Given the description of an element on the screen output the (x, y) to click on. 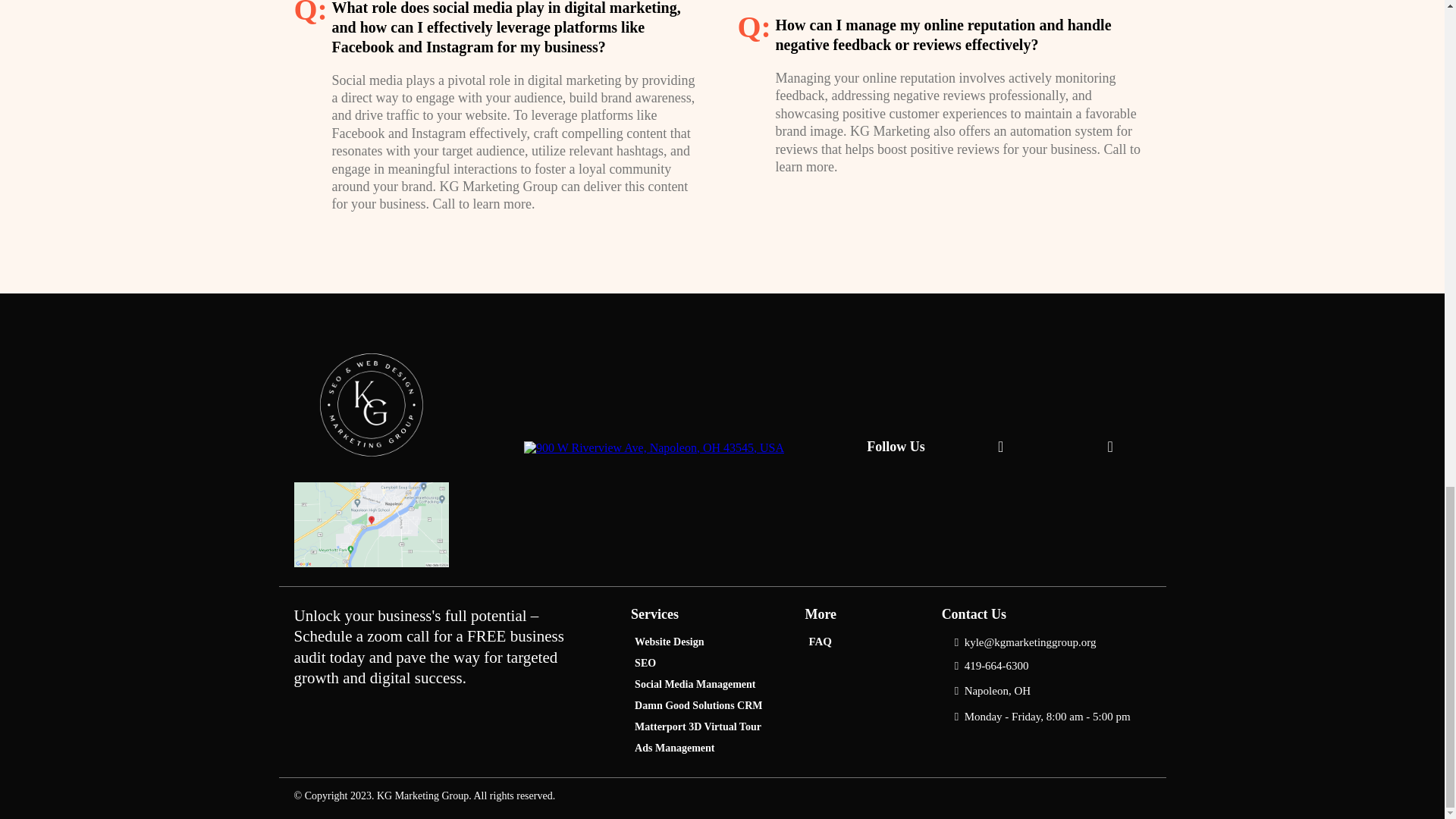
Website Design (668, 640)
SEO (644, 662)
Matterport 3D Virtual Tour (697, 726)
Ads Management (673, 747)
Social Media Management (694, 683)
Damn Good Solutions CRM (697, 704)
FAQ (820, 640)
